Given the description of an element on the screen output the (x, y) to click on. 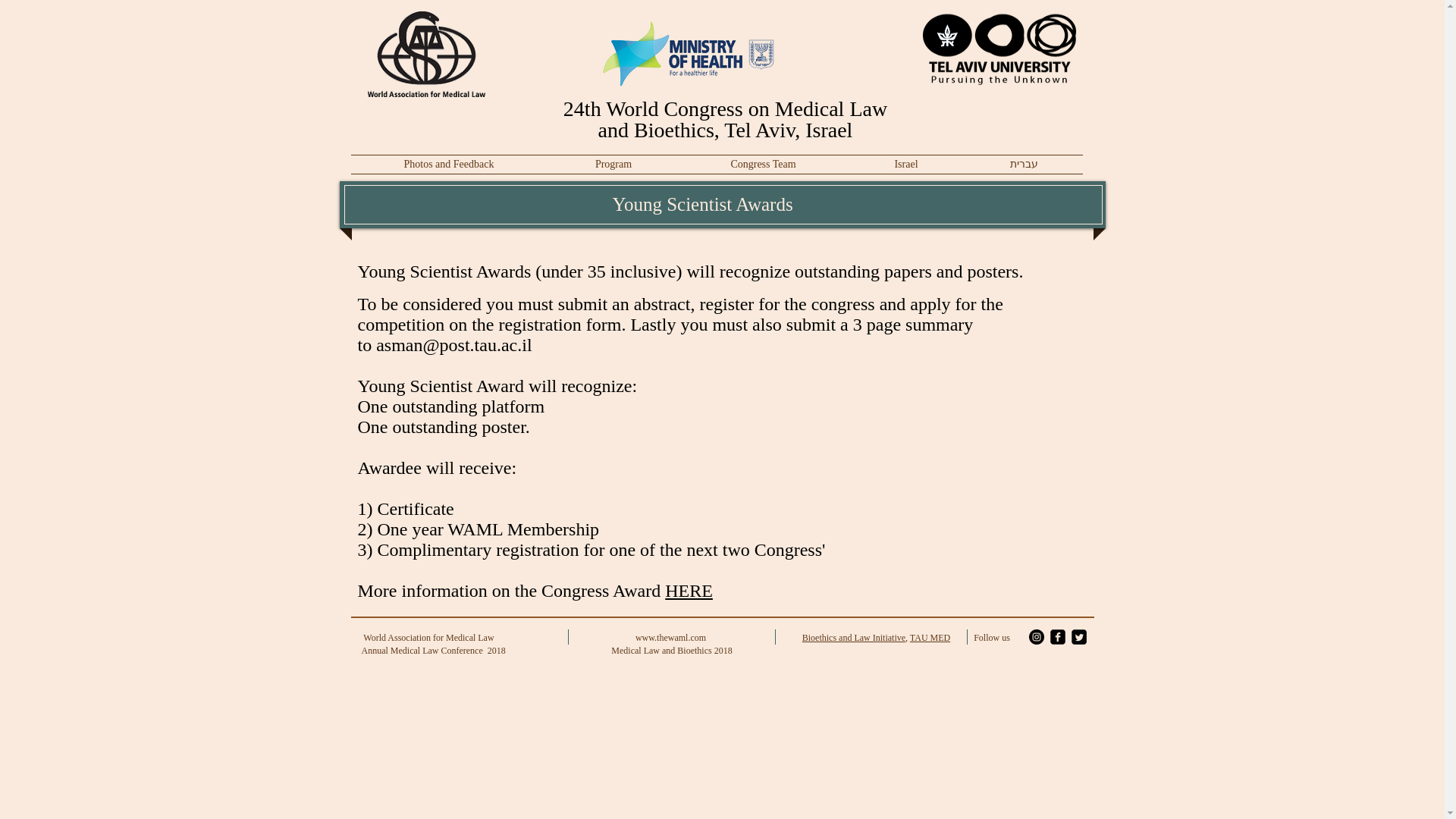
Program (613, 164)
Israel (905, 164)
HERE (689, 590)
Congress Team (762, 164)
Bioethics and Law Initiative (853, 637)
TAU MED (930, 637)
www.thewaml.com (670, 637)
